Given the description of an element on the screen output the (x, y) to click on. 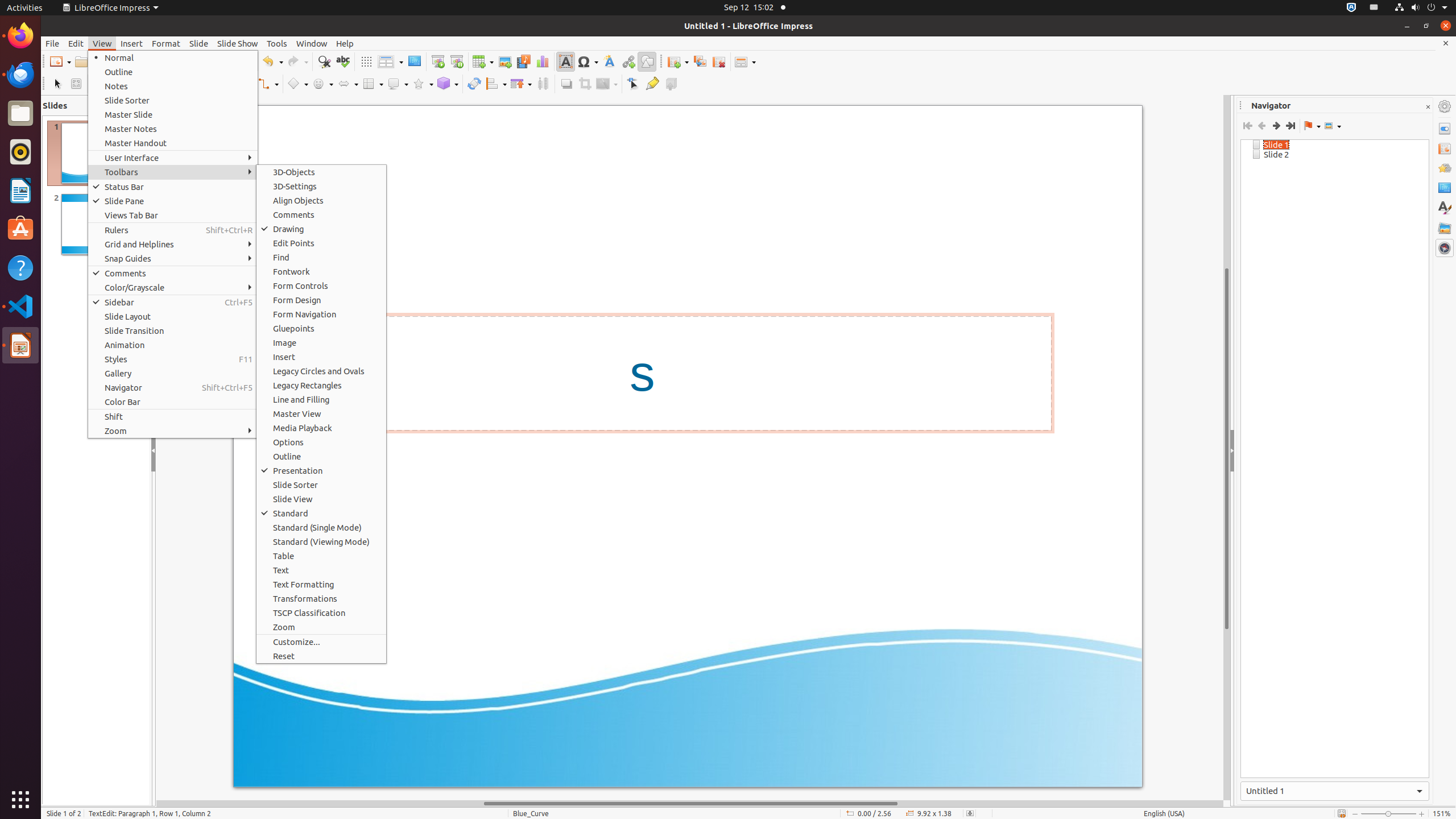
Standard Element type: check-menu-item (321, 513)
Text Formatting Element type: check-menu-item (321, 584)
Zoom Element type: menu (172, 430)
Select Element type: push-button (56, 83)
